Given the description of an element on the screen output the (x, y) to click on. 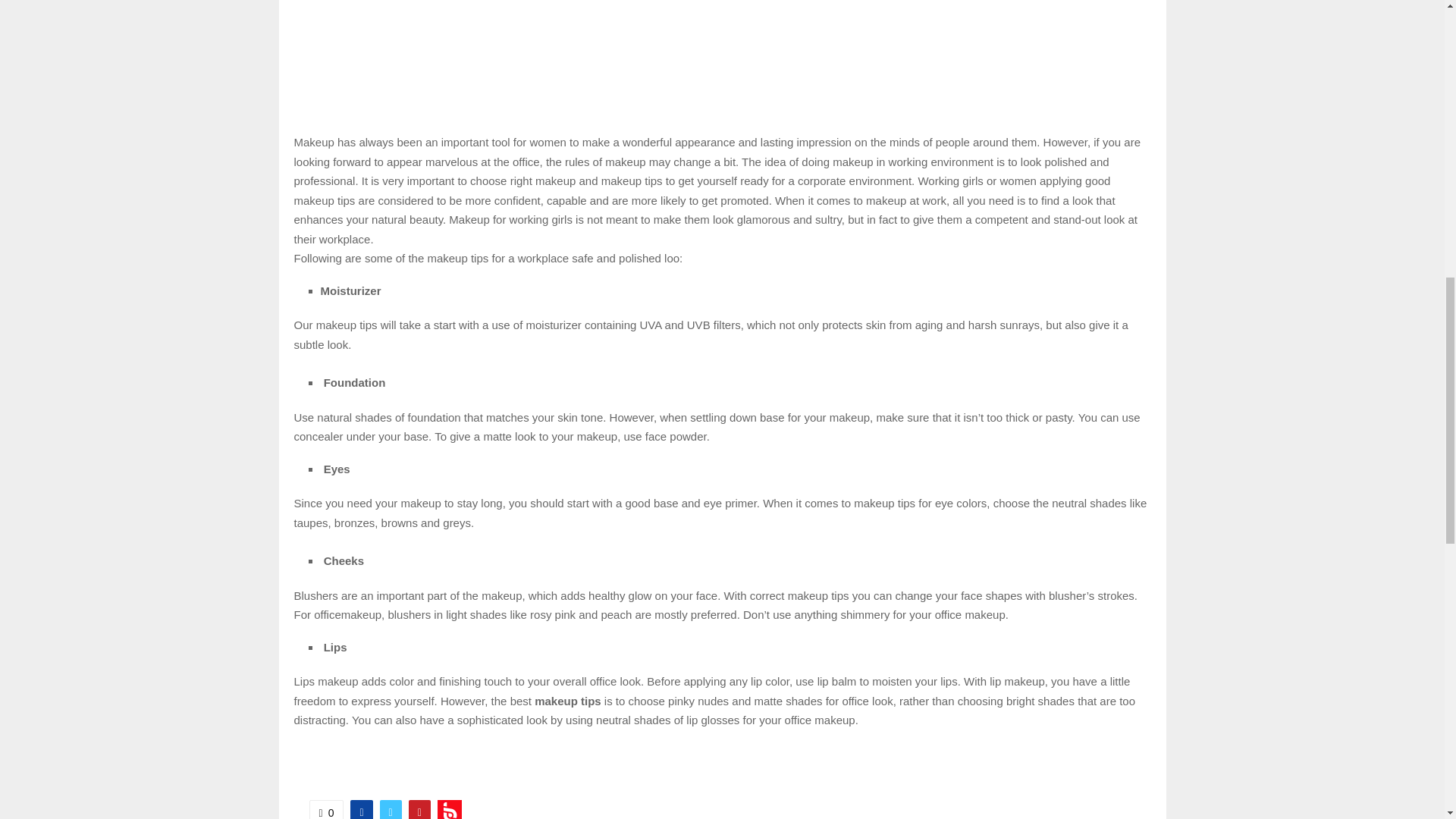
0 (325, 809)
Like (325, 809)
Makeup Tips For Working Girls (369, 54)
